Given the description of an element on the screen output the (x, y) to click on. 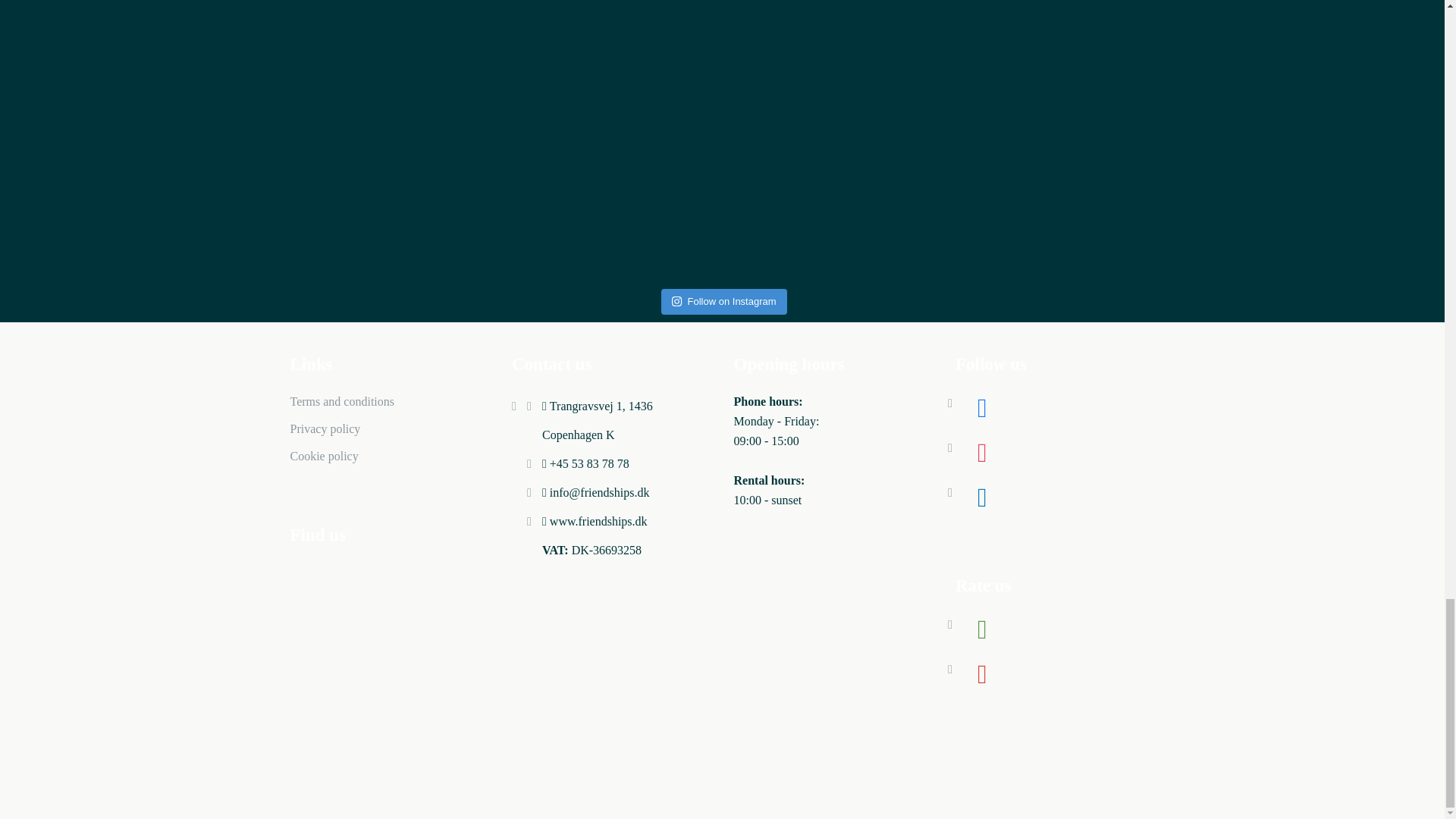
instagram (981, 451)
Follow on Instagram (723, 301)
linkedin (981, 495)
facebook (981, 406)
tripadvisor (981, 627)
Cookie policy (323, 455)
Privacy policy (324, 428)
Terms and conditions (341, 400)
